Given the description of an element on the screen output the (x, y) to click on. 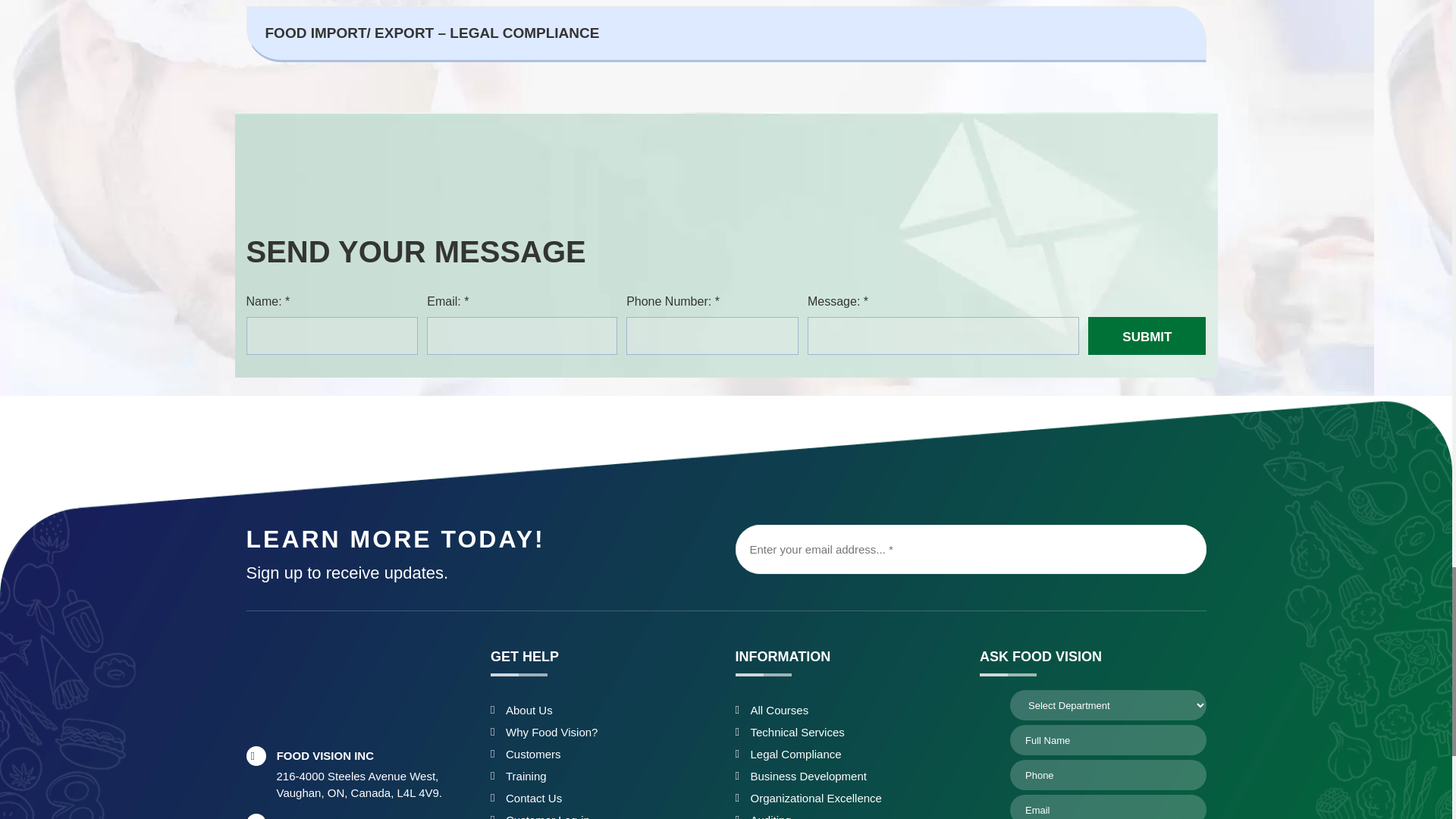
Submit (1146, 335)
Enter your email address... (971, 549)
